Given the description of an element on the screen output the (x, y) to click on. 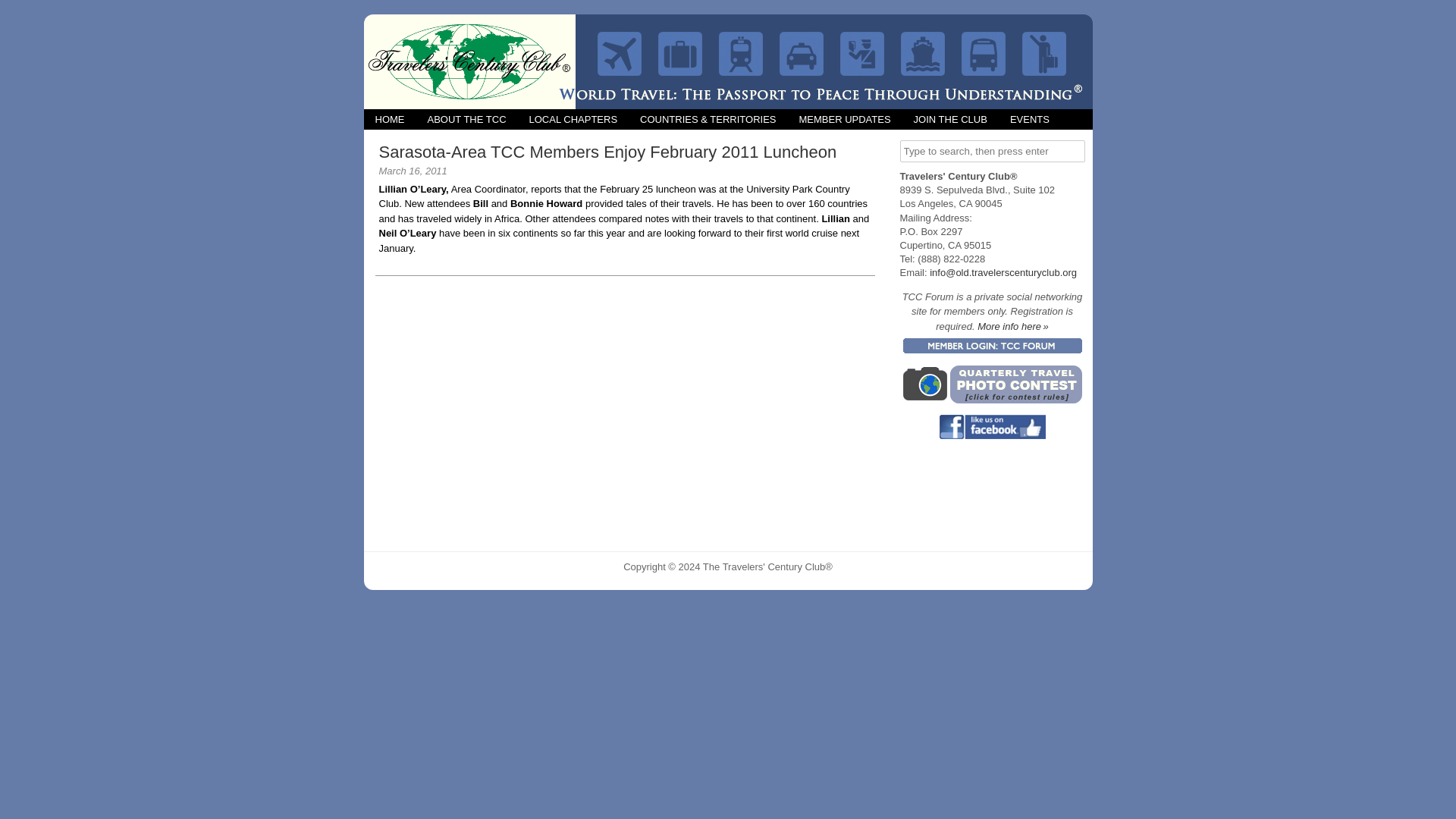
HOME (390, 118)
LOCAL CHAPTERS (573, 118)
ABOUT THE TCC (465, 118)
Type to search, then press enter (991, 151)
